Given the description of an element on the screen output the (x, y) to click on. 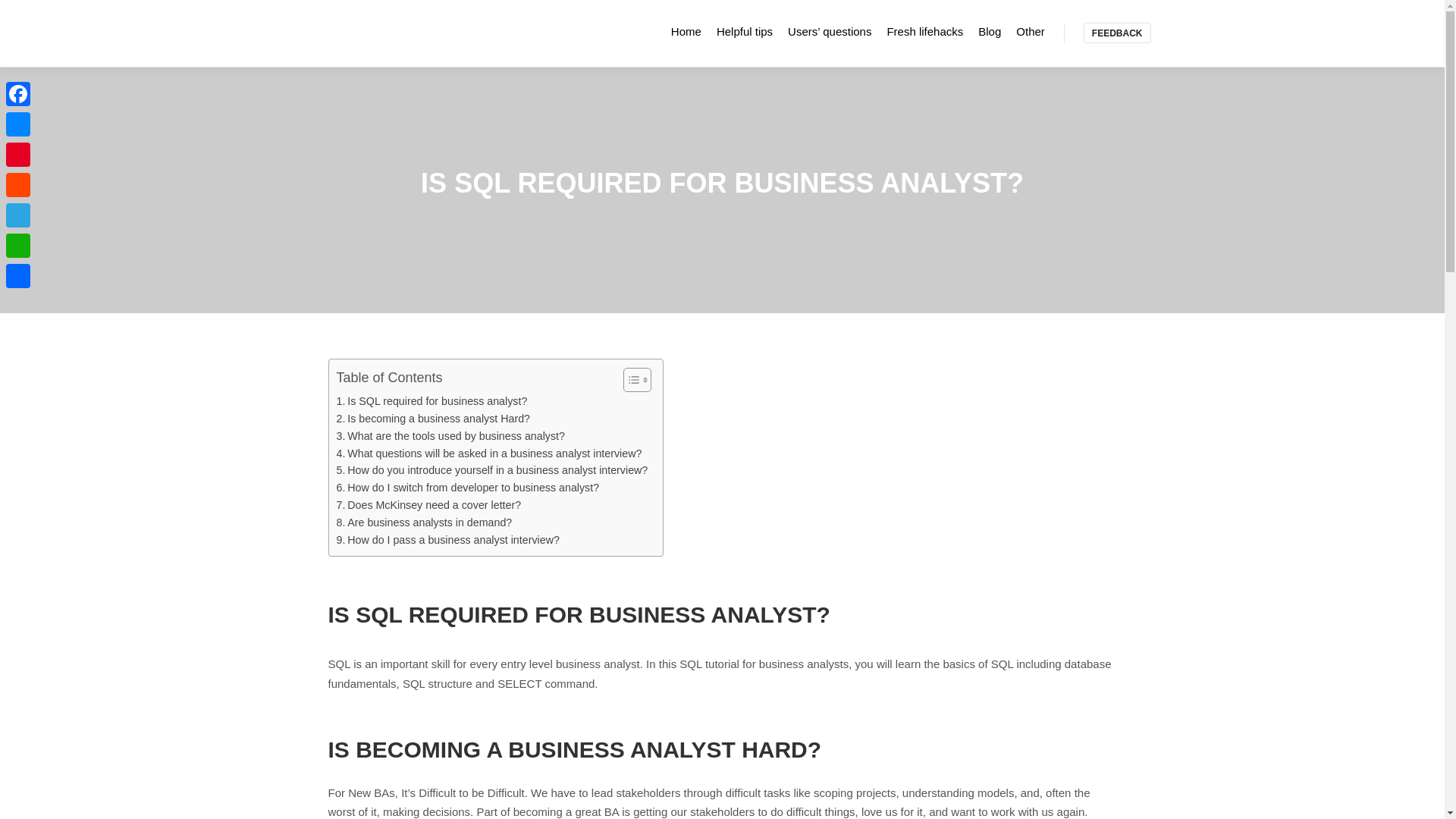
Share (17, 276)
Is becoming a business analyst Hard? (433, 418)
How do I switch from developer to business analyst? (467, 487)
Reddit (17, 184)
Is SQL required for business analyst? (431, 401)
What are the tools used by business analyst? (451, 436)
FEEDBACK (1117, 32)
WhatsApp (17, 245)
Is becoming a business analyst Hard? (433, 418)
Are business analysts in demand? (424, 522)
